Given the description of an element on the screen output the (x, y) to click on. 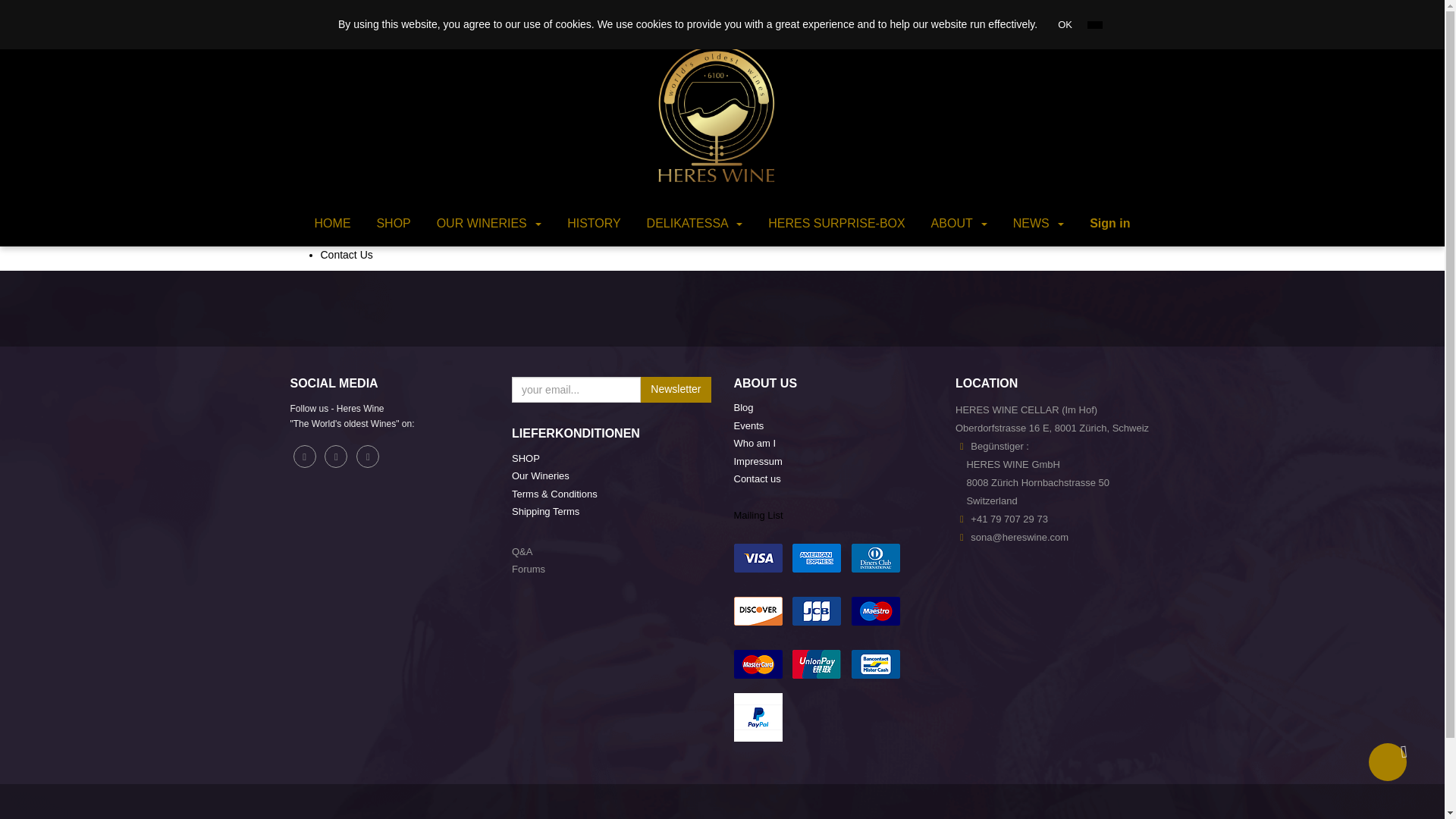
OUR WINERIES (489, 223)
ABOUT (959, 223)
PUBLIC PRICELIST (997, 13)
HERES SURPRISE-BOX (836, 223)
DELIKATESSA (694, 223)
HISTORY (593, 223)
OK (1064, 24)
SHOP (393, 223)
HOME (332, 223)
